Given the description of an element on the screen output the (x, y) to click on. 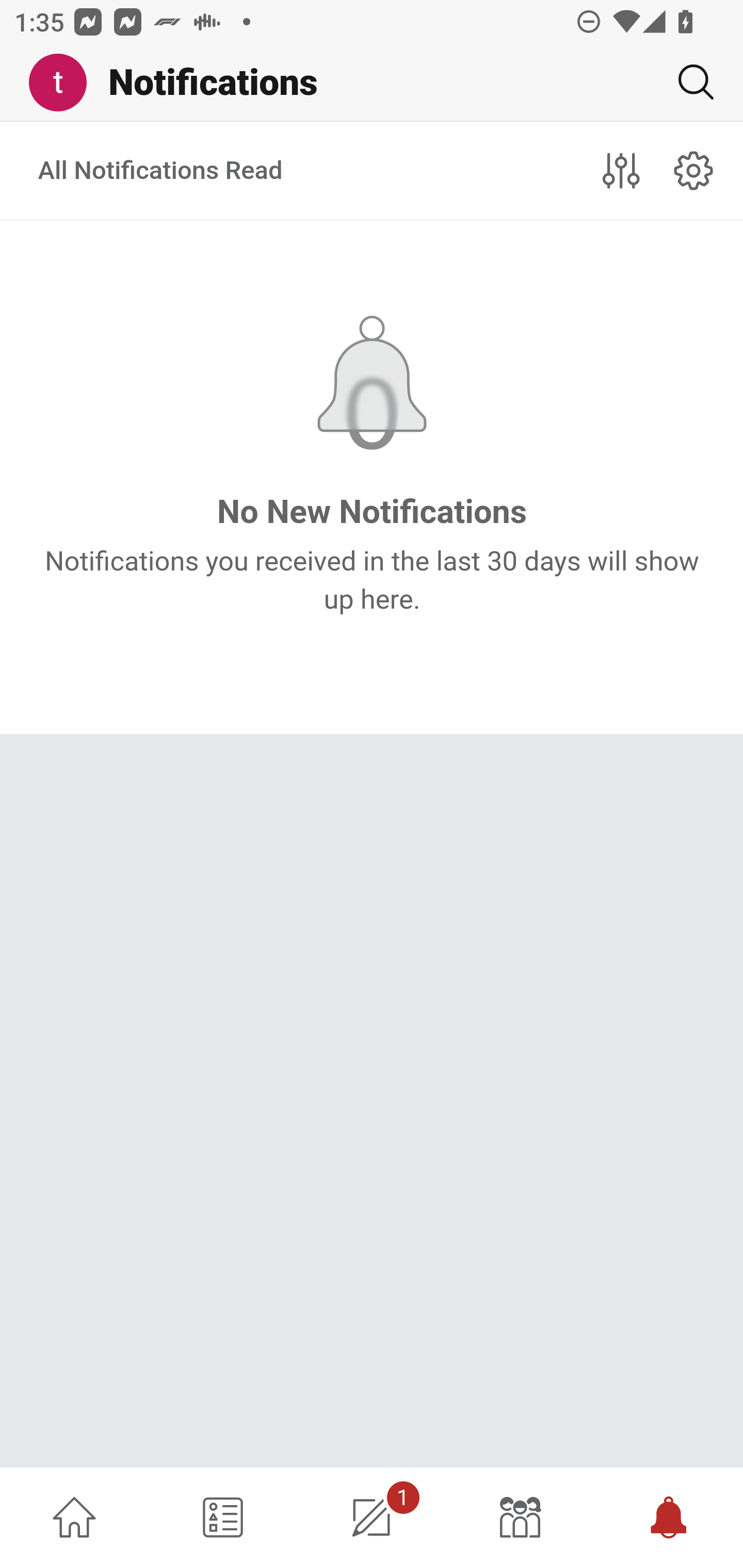
Me (64, 83)
Search (688, 82)
All Notifications Read (160, 171)
notifications# (693, 170)
1 (371, 1517)
